Given the description of an element on the screen output the (x, y) to click on. 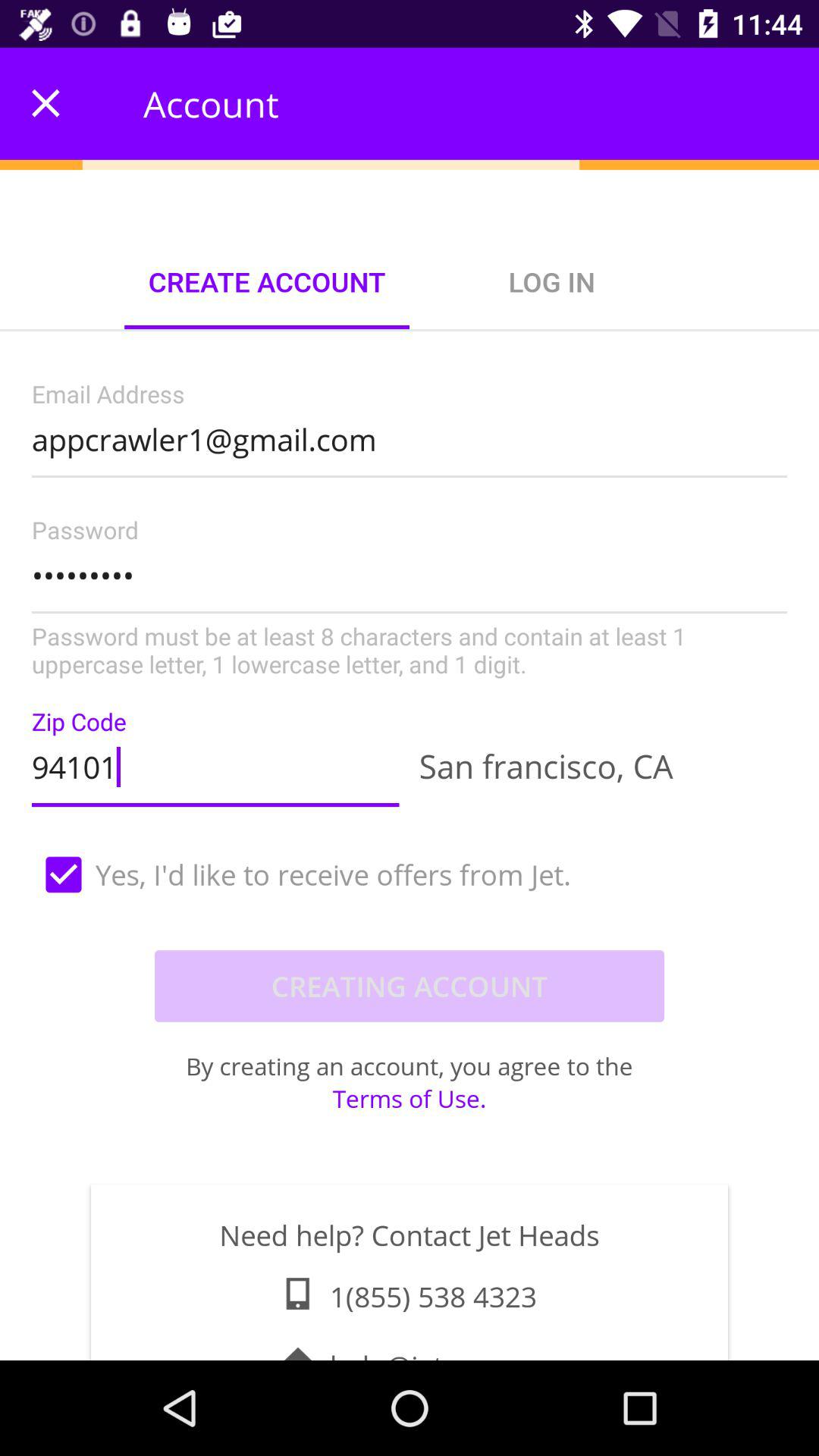
launch icon above 94101 icon (409, 599)
